Given the description of an element on the screen output the (x, y) to click on. 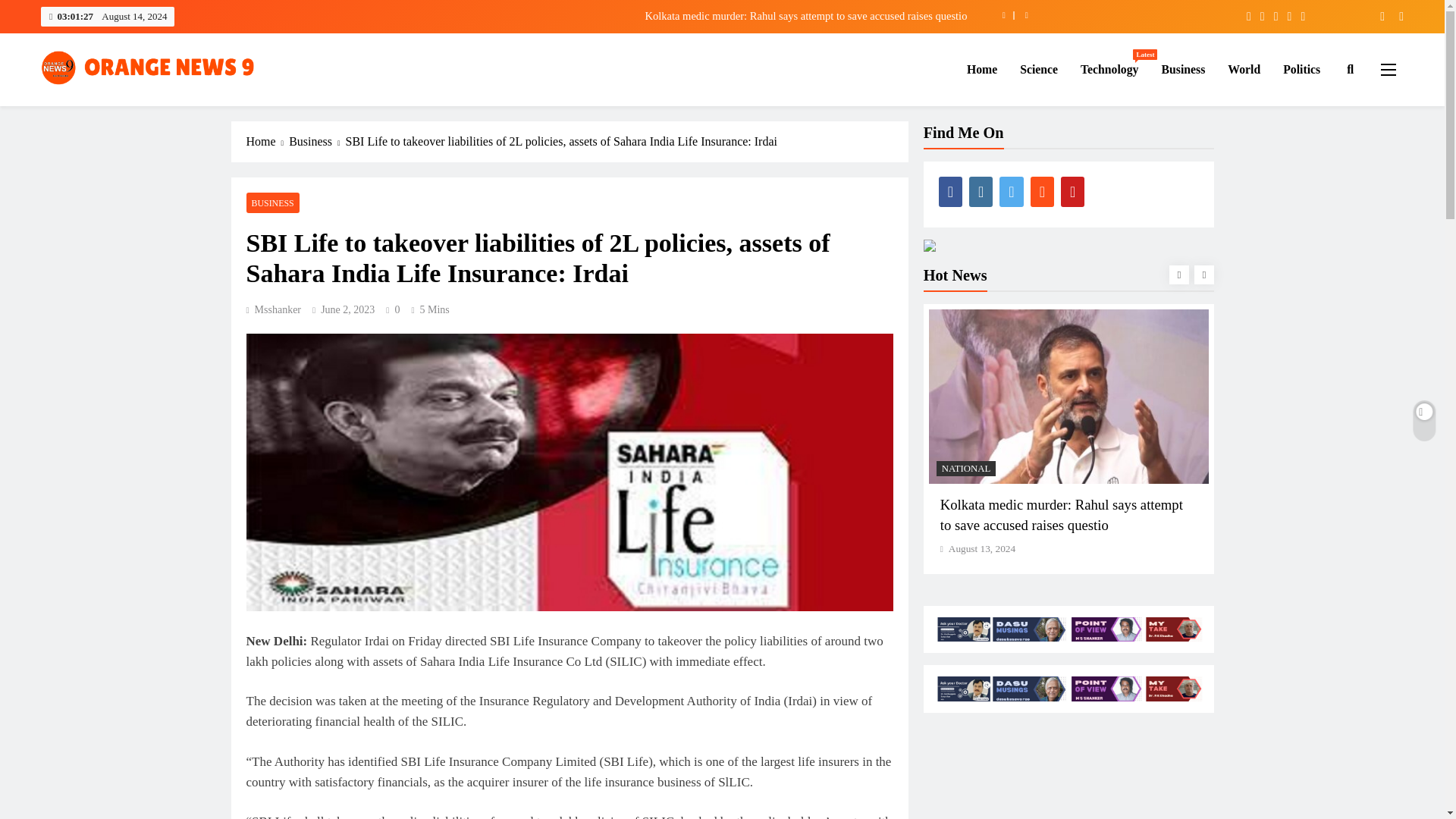
Business (1182, 69)
World (1109, 69)
OrangeNews9 (1243, 69)
Home (111, 107)
Politics (982, 69)
Science (1301, 69)
